Given the description of an element on the screen output the (x, y) to click on. 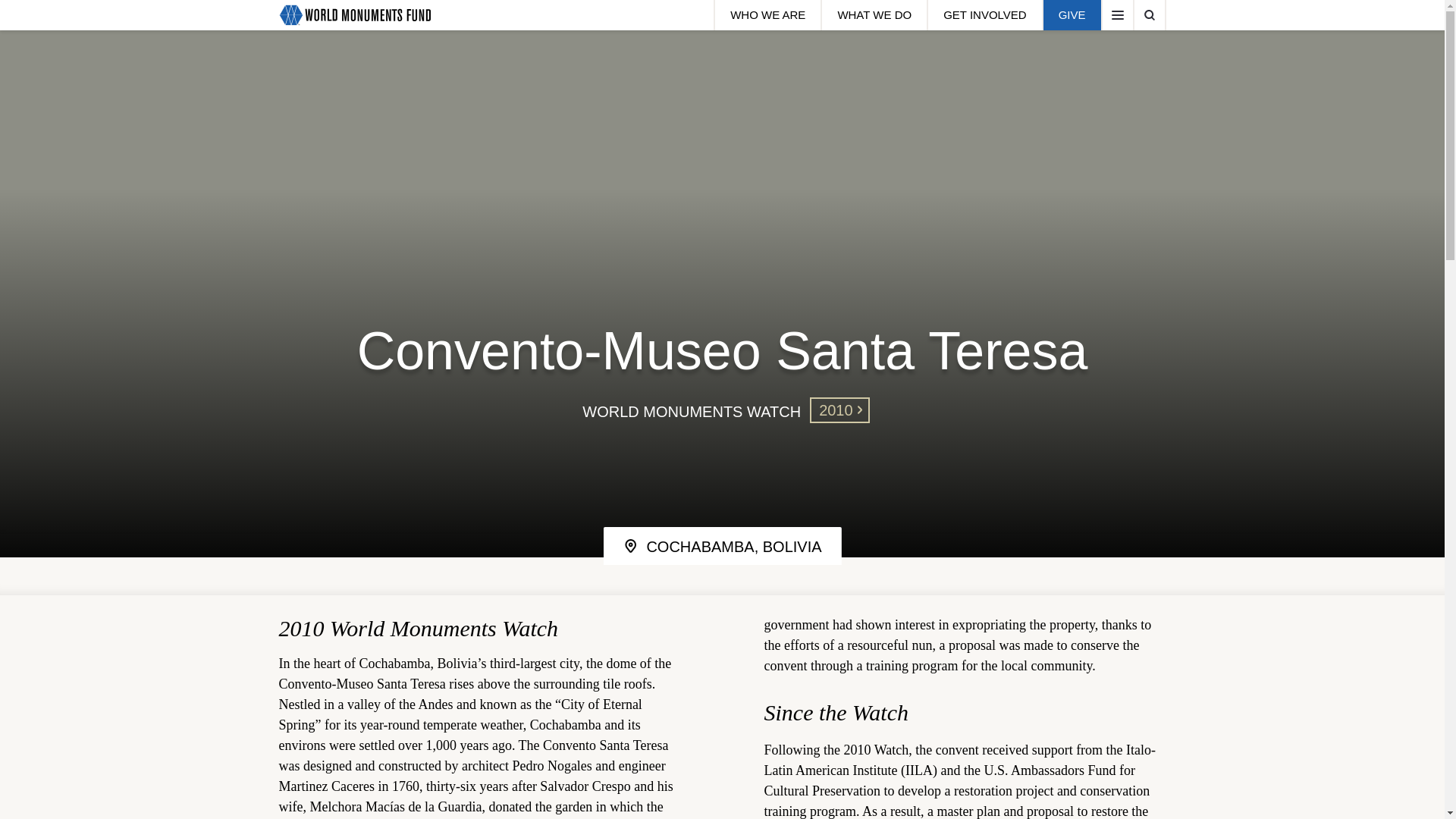
WHO WE ARE (767, 15)
WHAT WE DO (873, 15)
GIVE (1071, 15)
GET INVOLVED (983, 15)
Home (354, 15)
